Given the description of an element on the screen output the (x, y) to click on. 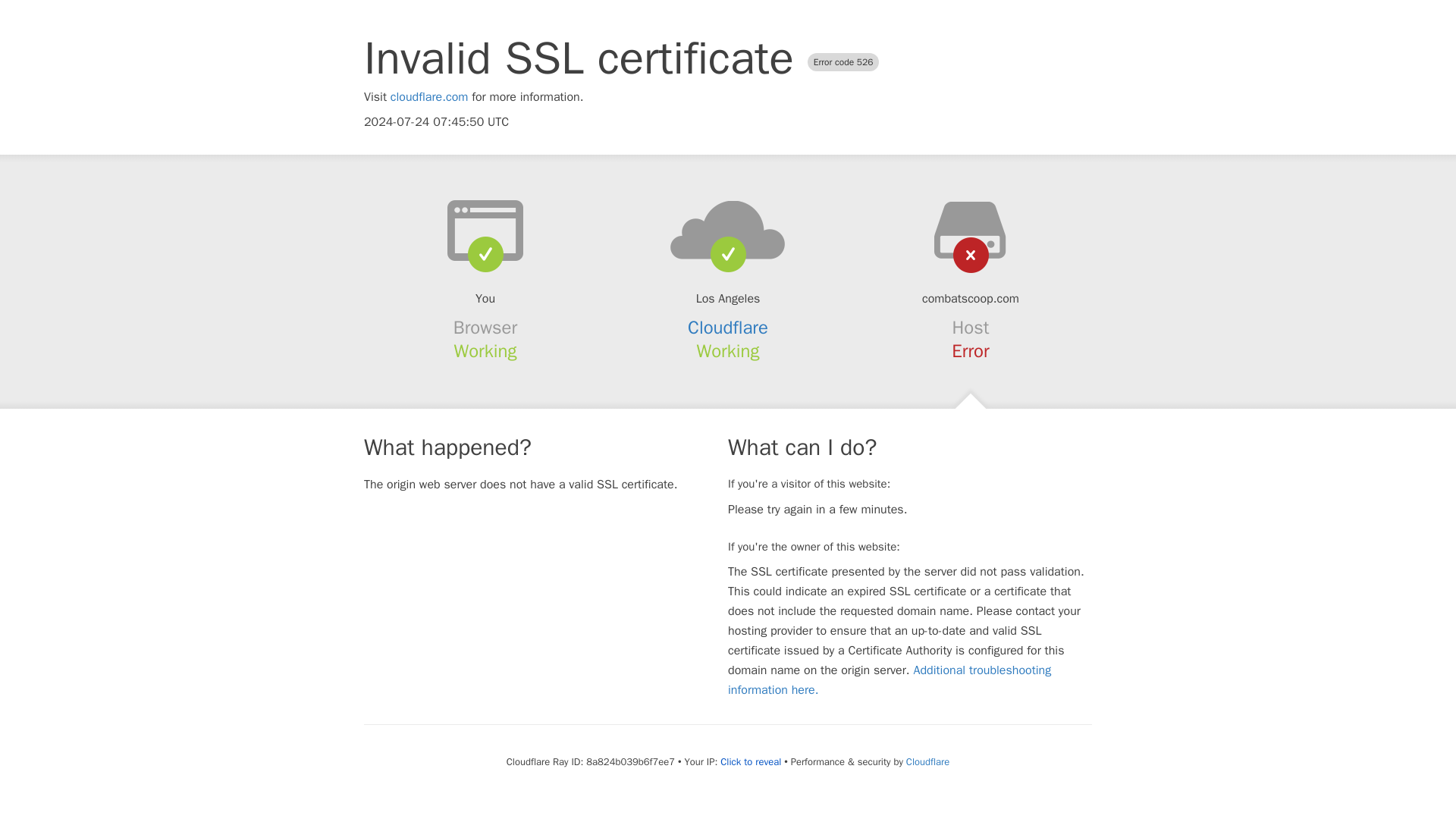
cloudflare.com (429, 96)
Cloudflare (727, 327)
Click to reveal (750, 762)
Cloudflare (927, 761)
Additional troubleshooting information here. (889, 679)
